Given the description of an element on the screen output the (x, y) to click on. 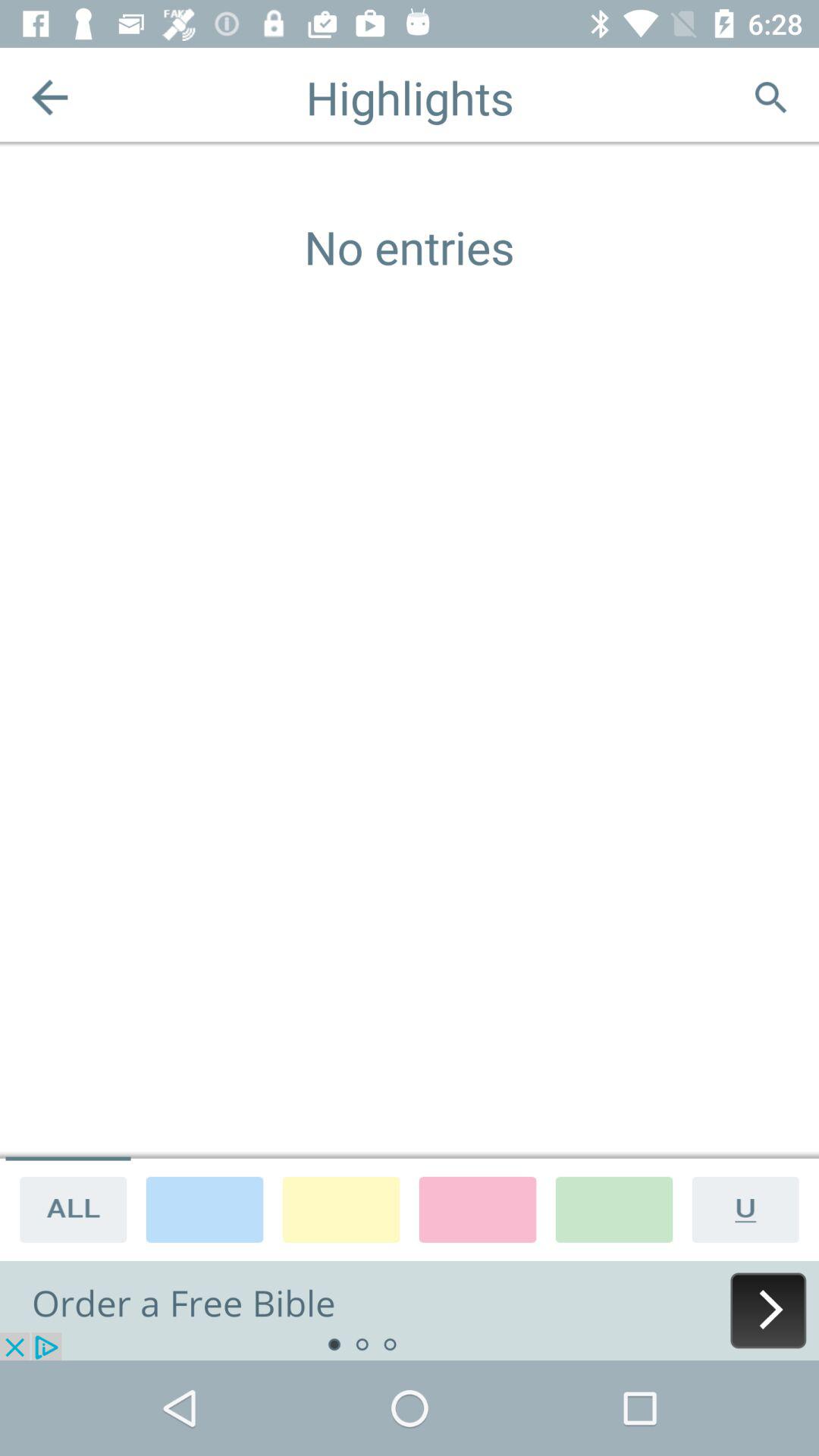
advertisement (409, 1310)
